Given the description of an element on the screen output the (x, y) to click on. 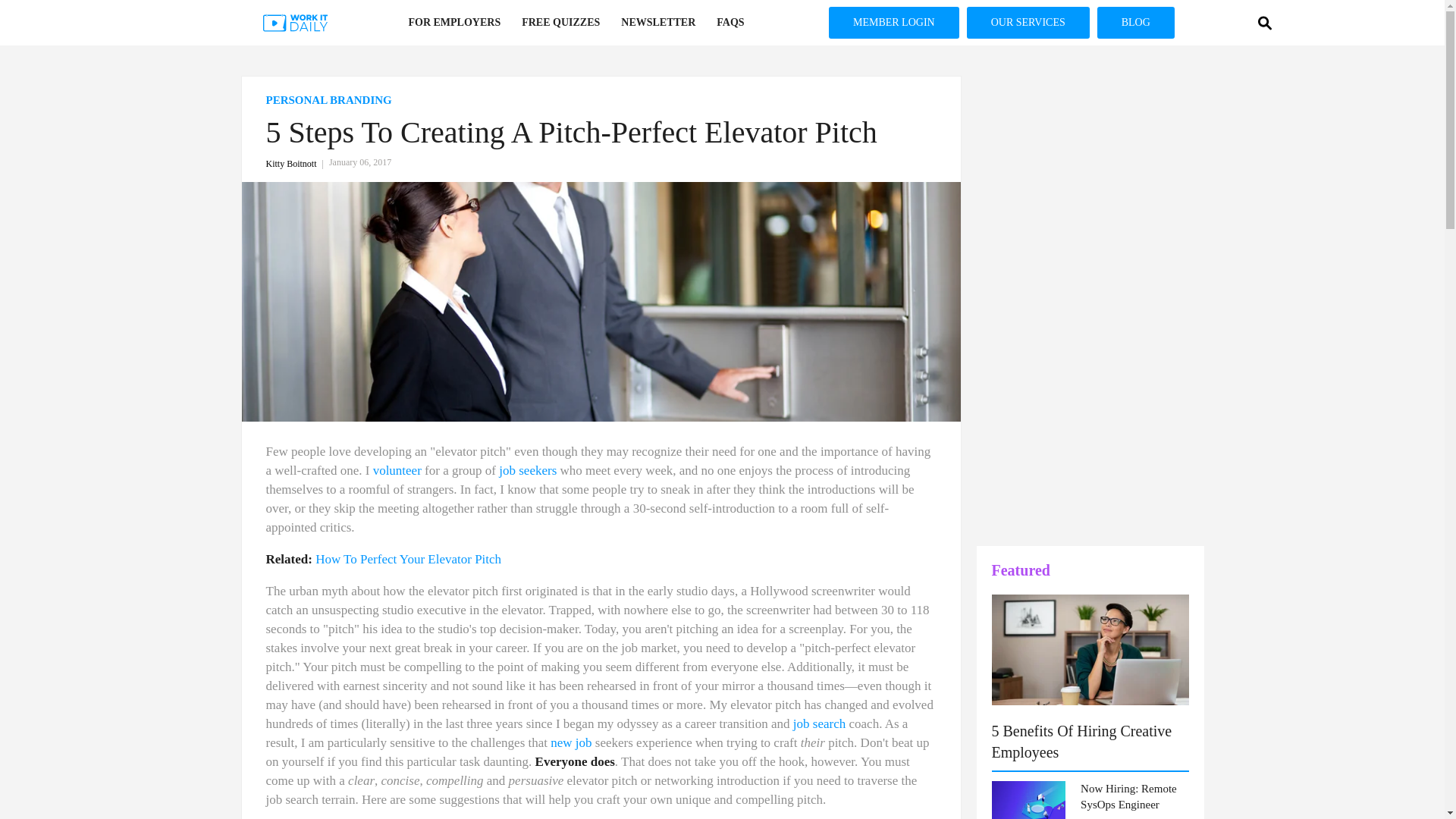
job seekers (527, 470)
BLOG (21, 288)
NEWSLETTER (658, 22)
job search (819, 723)
FOR EMPLOYERS (454, 22)
Kitty Boitnott (296, 163)
MEMBER LOGIN (21, 190)
BLOG (1135, 22)
FREE QUIZZES (560, 22)
new job (570, 742)
OUR SERVICES (21, 239)
MEMBER LOGIN (893, 22)
volunteer (397, 470)
How To Perfect Your Elevator Pitch (407, 559)
FAQS (730, 22)
